Given the description of an element on the screen output the (x, y) to click on. 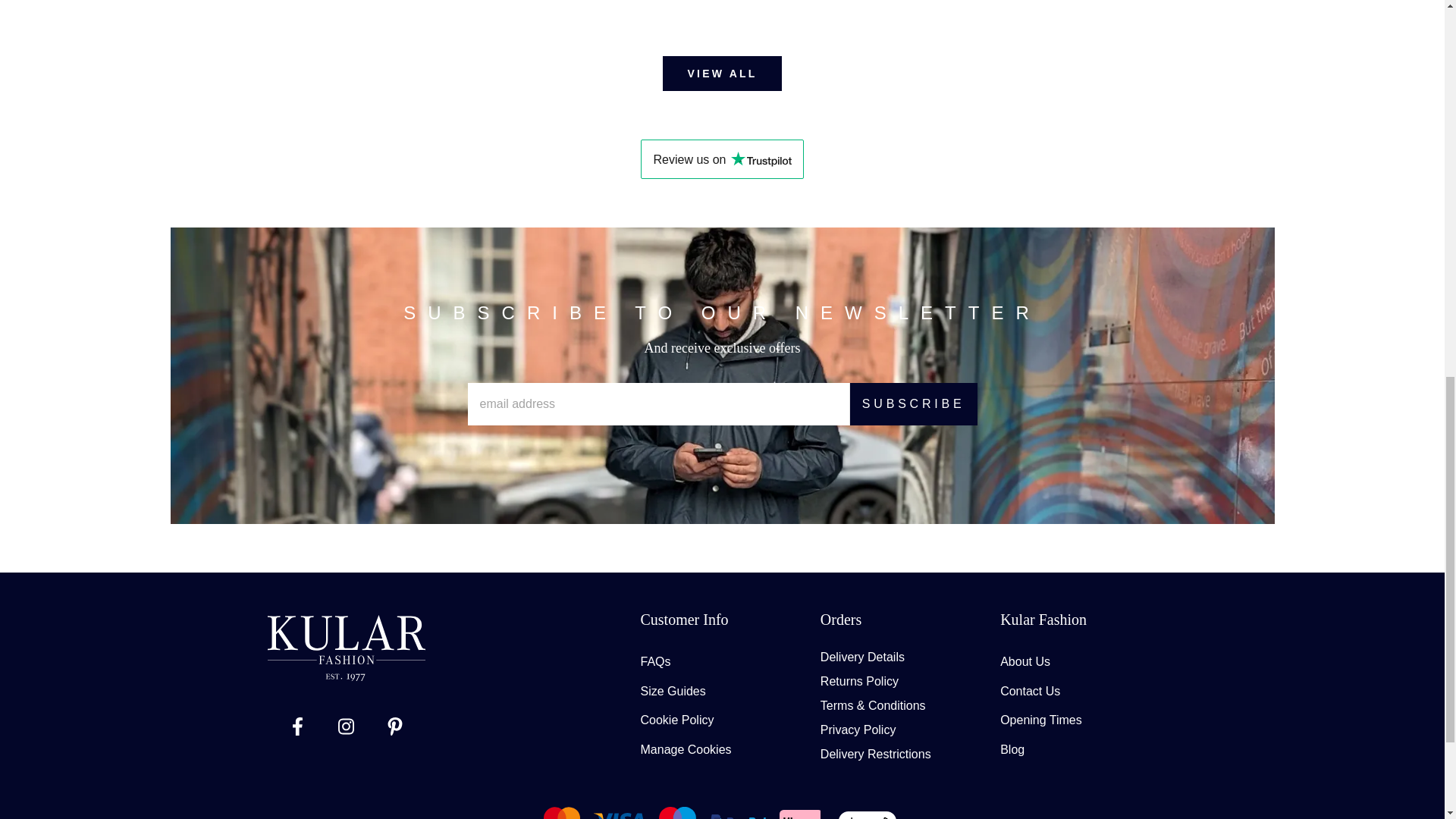
Carhartt WIP (1202, 15)
Subscribe (912, 404)
